Given the description of an element on the screen output the (x, y) to click on. 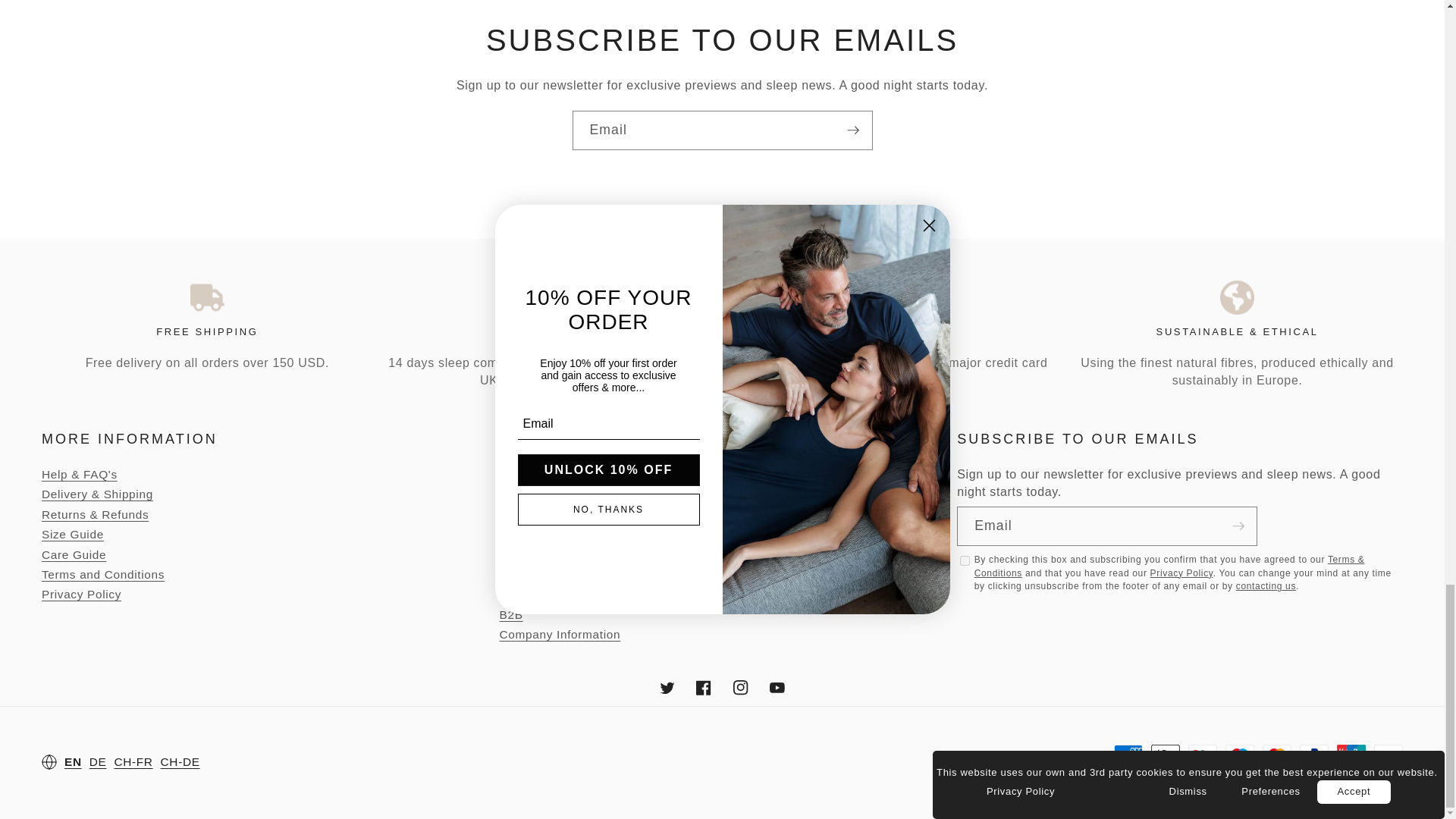
Privacy Policy (1181, 573)
Terms and conditions (1169, 566)
terms (964, 560)
Contact us (1265, 585)
